Given the description of an element on the screen output the (x, y) to click on. 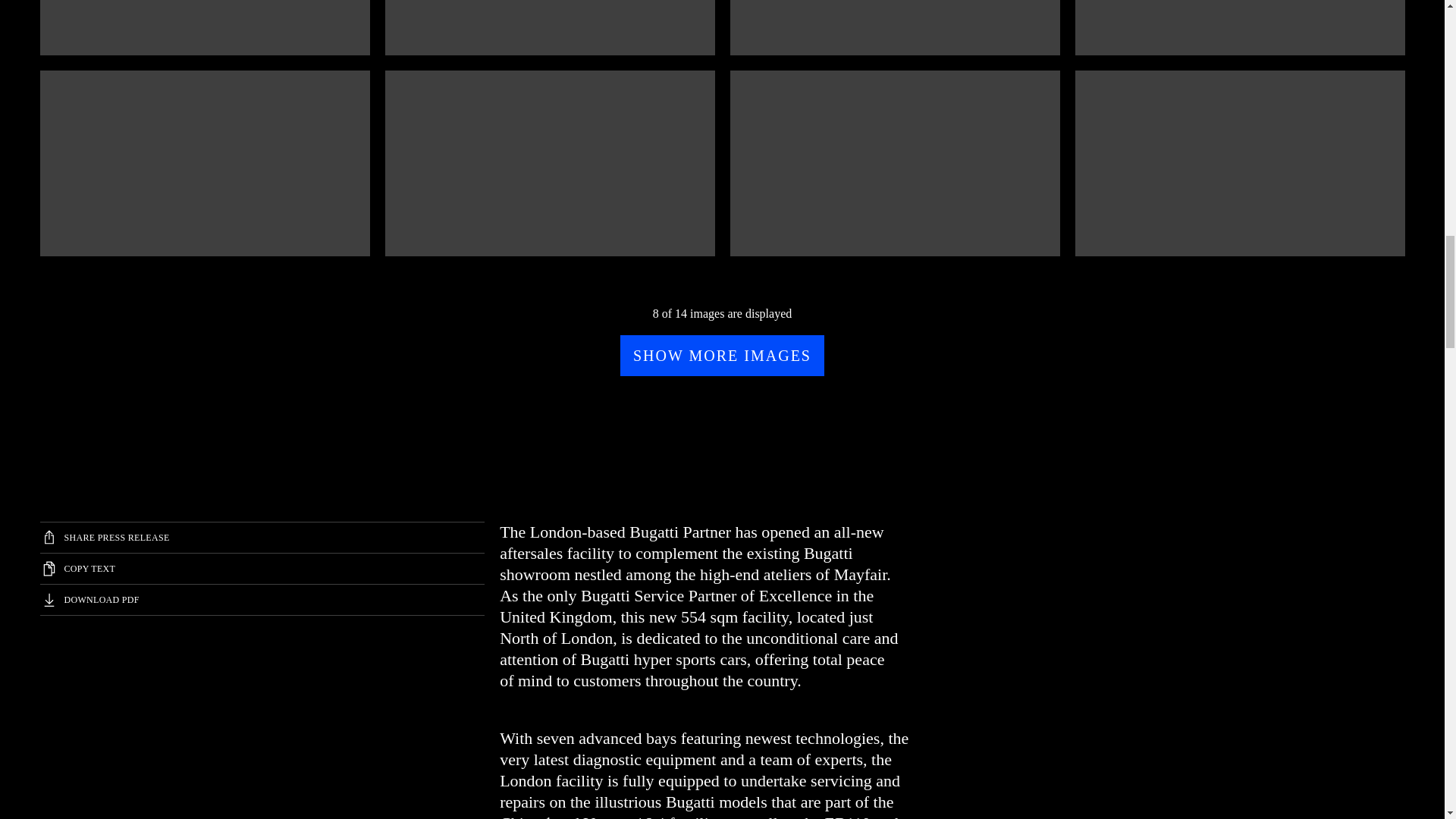
SHOW MORE IMAGES (722, 354)
DOWNLOAD PDF (78, 740)
SHARE PRESS RELEASE (261, 537)
COPY TEXT (261, 568)
DOWNLOAD PDF (261, 599)
